Given the description of an element on the screen output the (x, y) to click on. 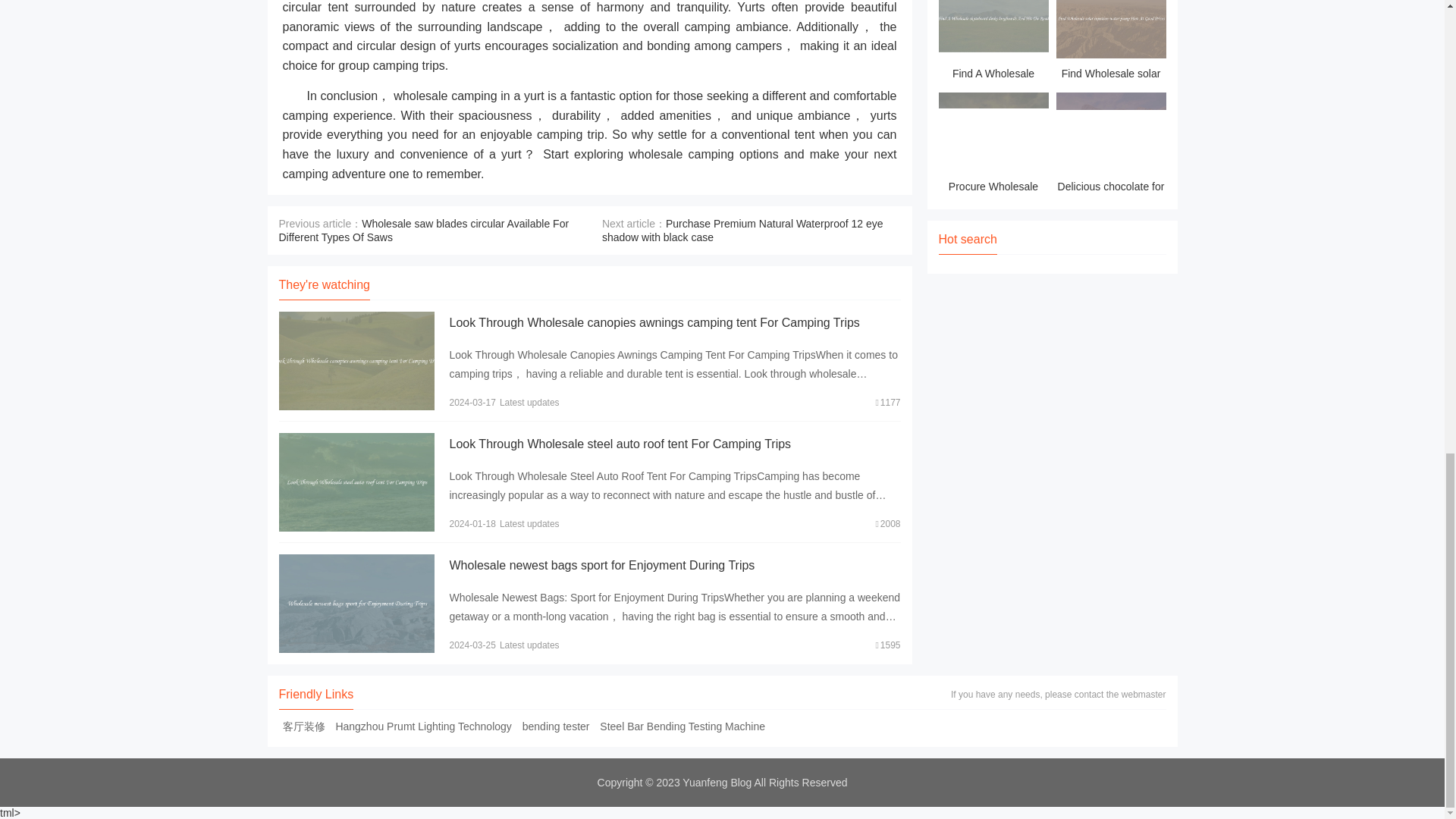
Delicious chocolate for christmas With Multiple Fun Flavors (1110, 145)
bending tester (556, 726)
Hangzhou Prumt Lighting Technology (423, 726)
Steel Bar Bending Testing Machine (681, 726)
Wholesale newest bags sport for Enjoyment During Trips (601, 564)
